Given the description of an element on the screen output the (x, y) to click on. 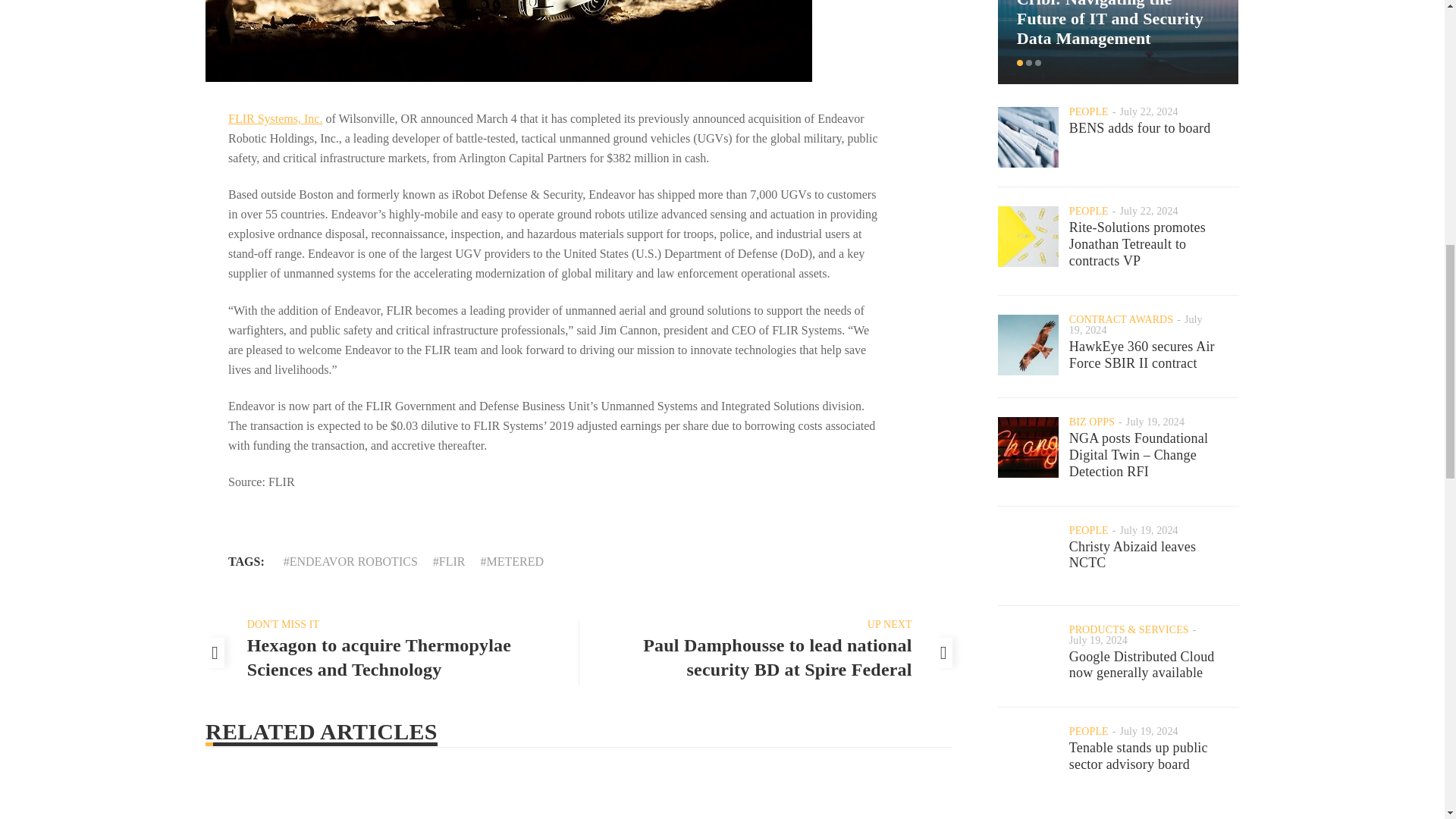
Hexagon to acquire Thermopylae Sciences and Technology (379, 657)
